Given the description of an element on the screen output the (x, y) to click on. 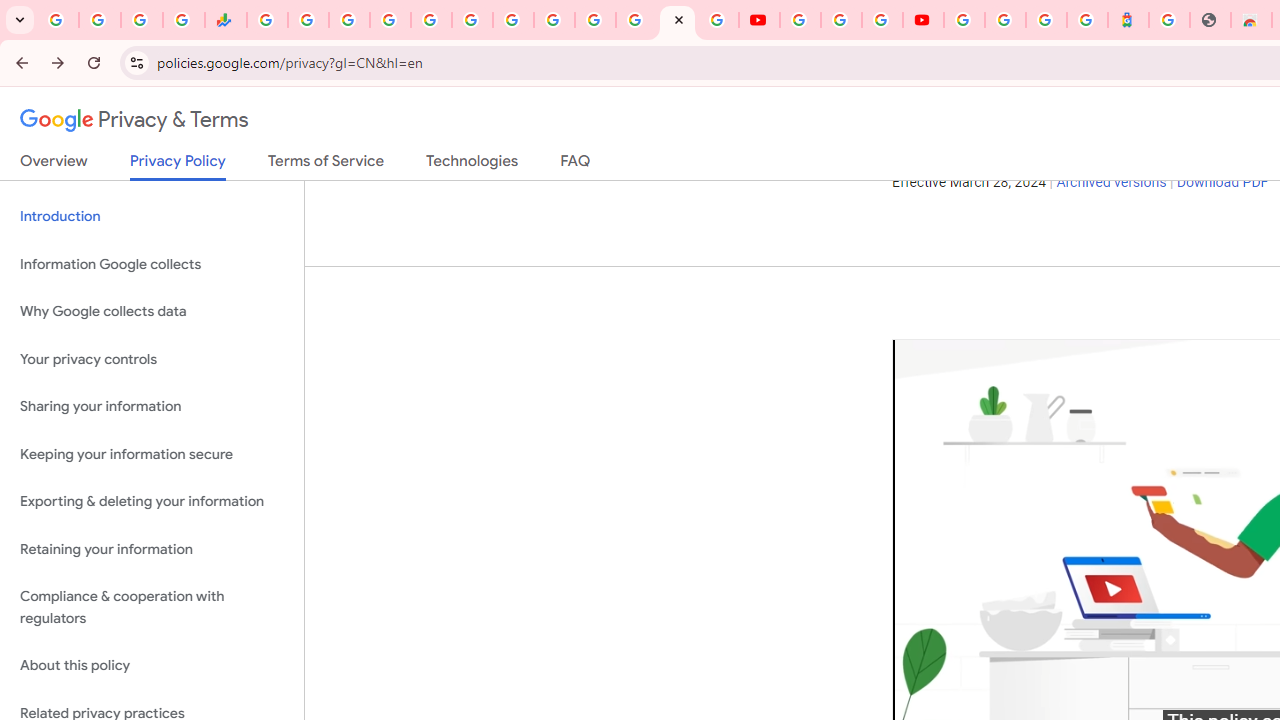
YouTube (758, 20)
Sign in - Google Accounts (389, 20)
Sign in - Google Accounts (594, 20)
Create your Google Account (881, 20)
Google Account Help (840, 20)
Take the Privacy Checkup (1053, 111)
